Given the description of an element on the screen output the (x, y) to click on. 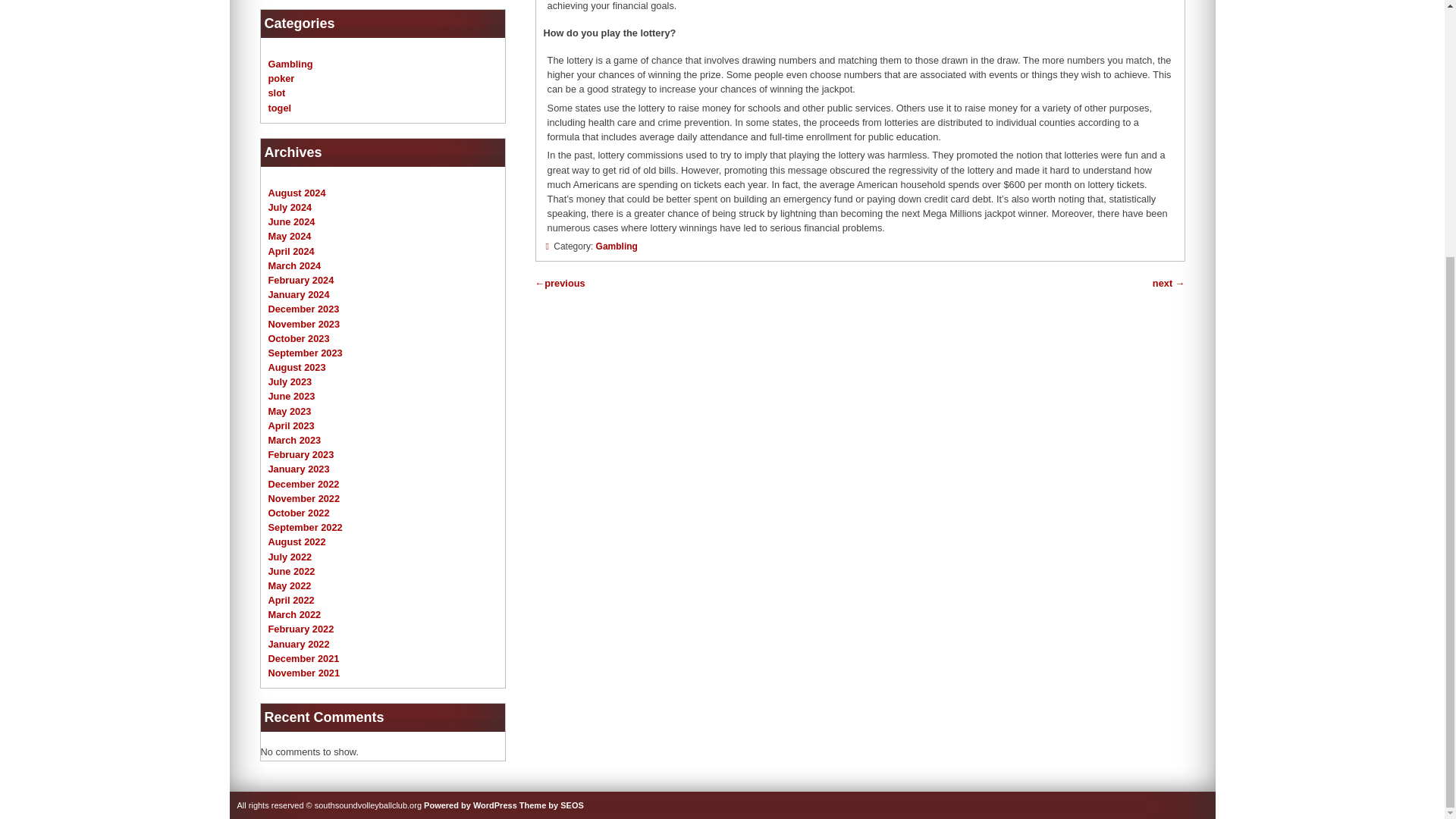
September 2023 (304, 352)
June 2023 (291, 396)
slot (276, 92)
January 2024 (298, 294)
December 2023 (303, 308)
February 2024 (300, 279)
Gambling (290, 63)
Seos free wordpress themes (551, 804)
February 2023 (300, 454)
May 2024 (289, 235)
